Given the description of an element on the screen output the (x, y) to click on. 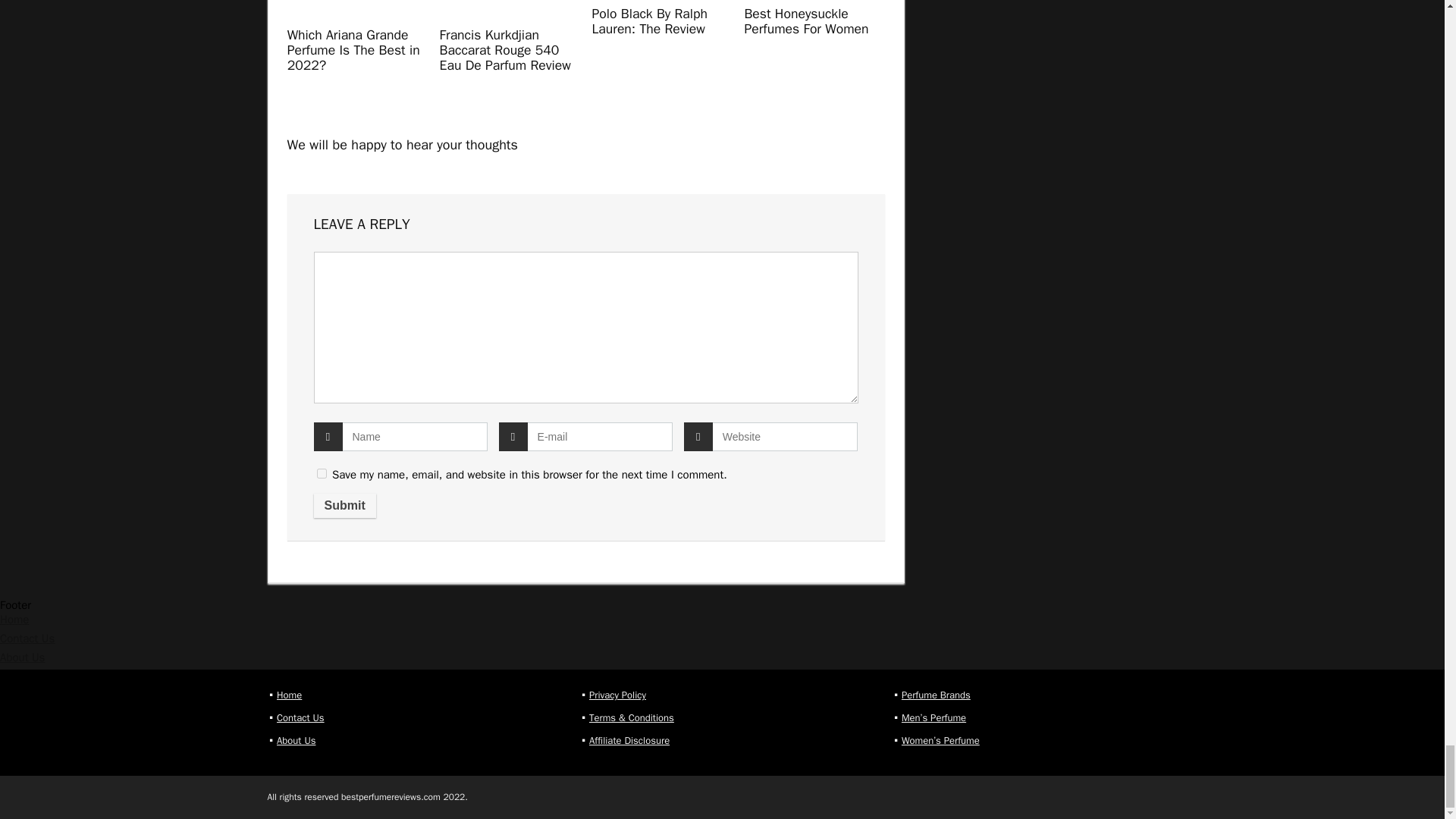
Submit (344, 505)
yes (321, 473)
